Given the description of an element on the screen output the (x, y) to click on. 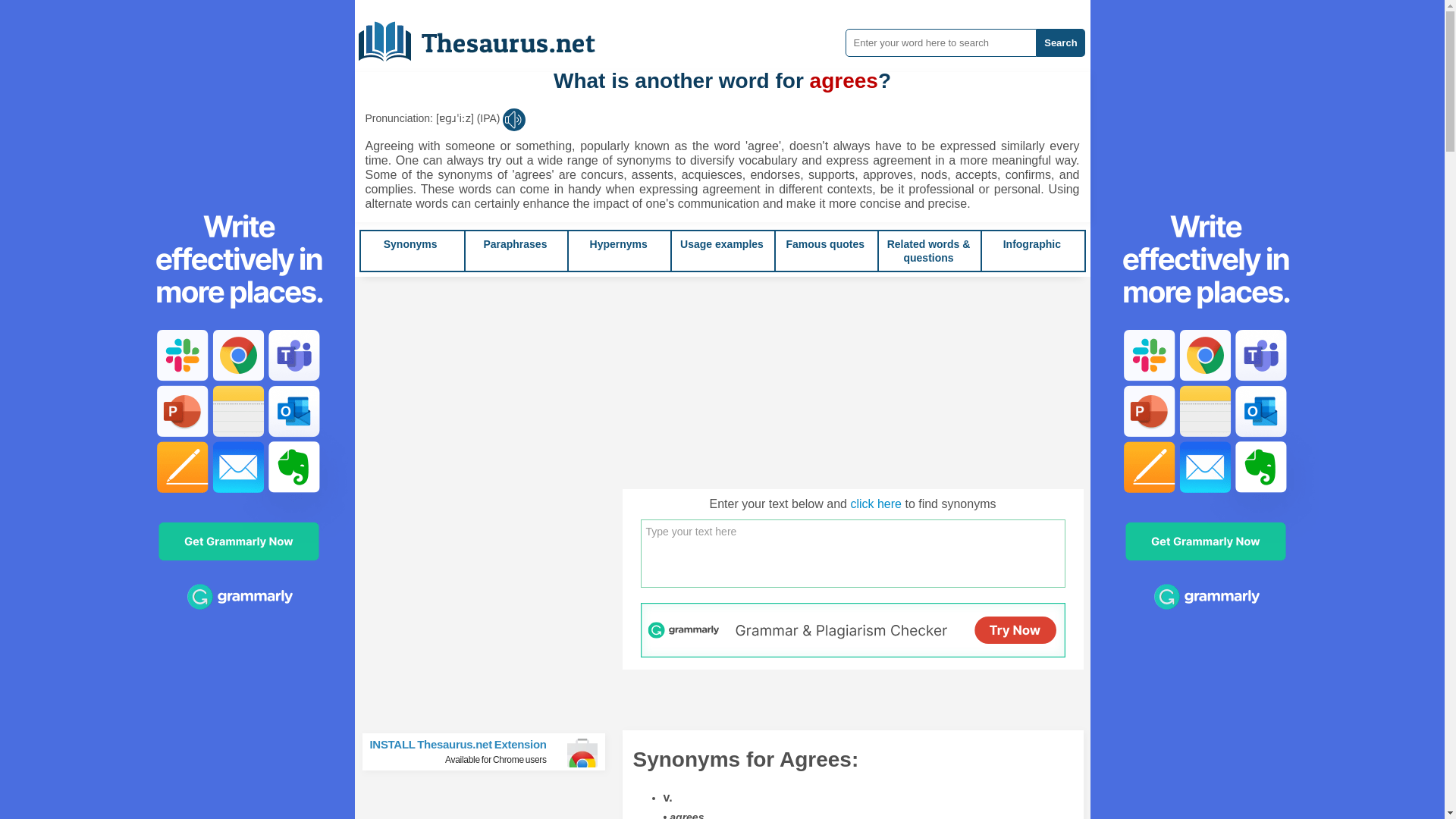
Famous quotes (825, 244)
Infographic (489, 751)
Thesaurus.net (1032, 244)
Infographic (487, 35)
Hypernyms (1032, 244)
Famous quotes (618, 244)
Synonyms (825, 244)
Hypernyms (411, 244)
Paraphrases (618, 244)
